Given the description of an element on the screen output the (x, y) to click on. 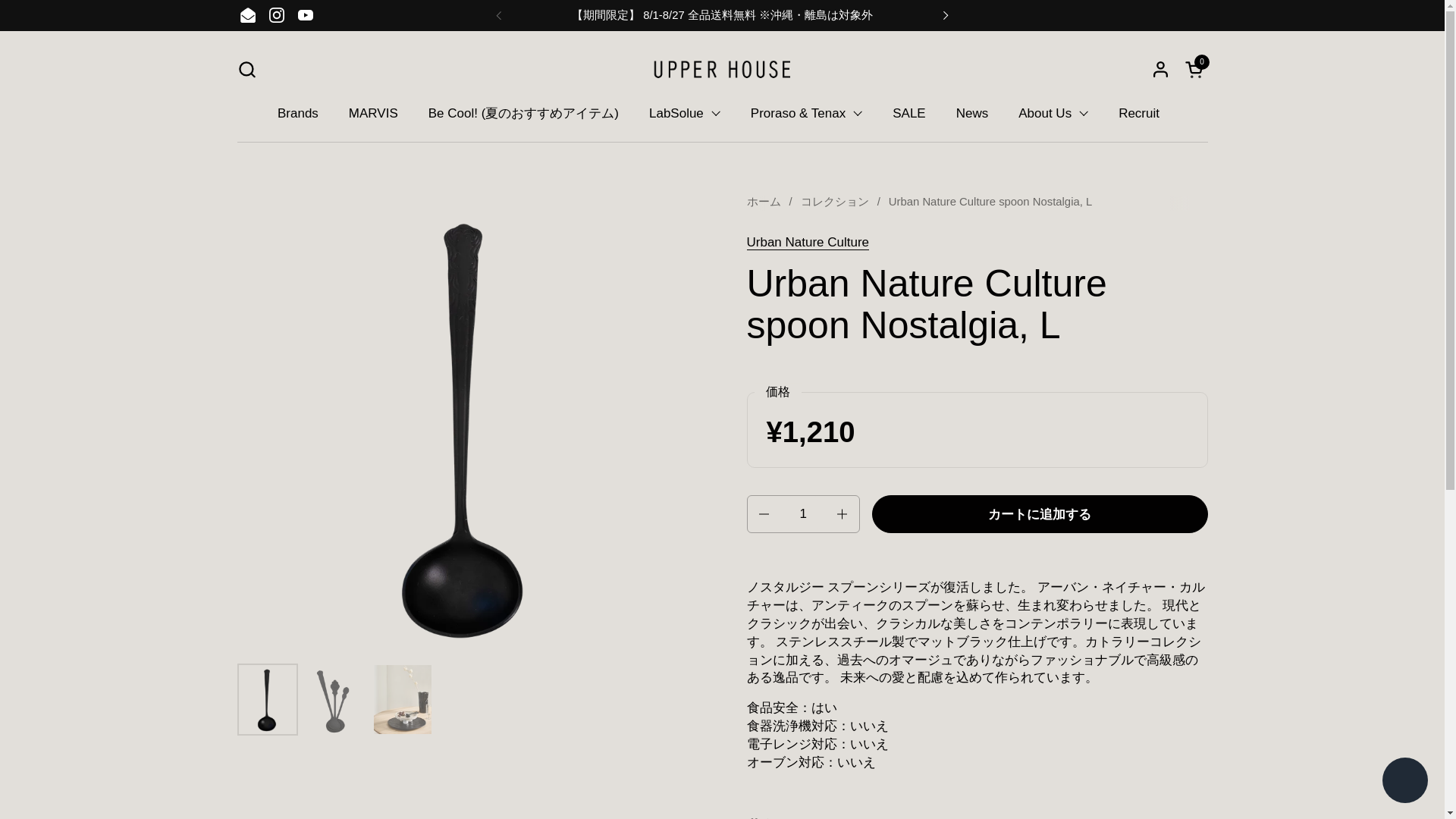
Email (247, 14)
Urban Nature Culture (807, 242)
MARVIS (373, 113)
UPPER HOUSE (721, 69)
SALE (908, 113)
Instagram (276, 14)
About Us (1053, 113)
Brands (297, 113)
LabSolue (684, 113)
YouTube (305, 14)
